Given the description of an element on the screen output the (x, y) to click on. 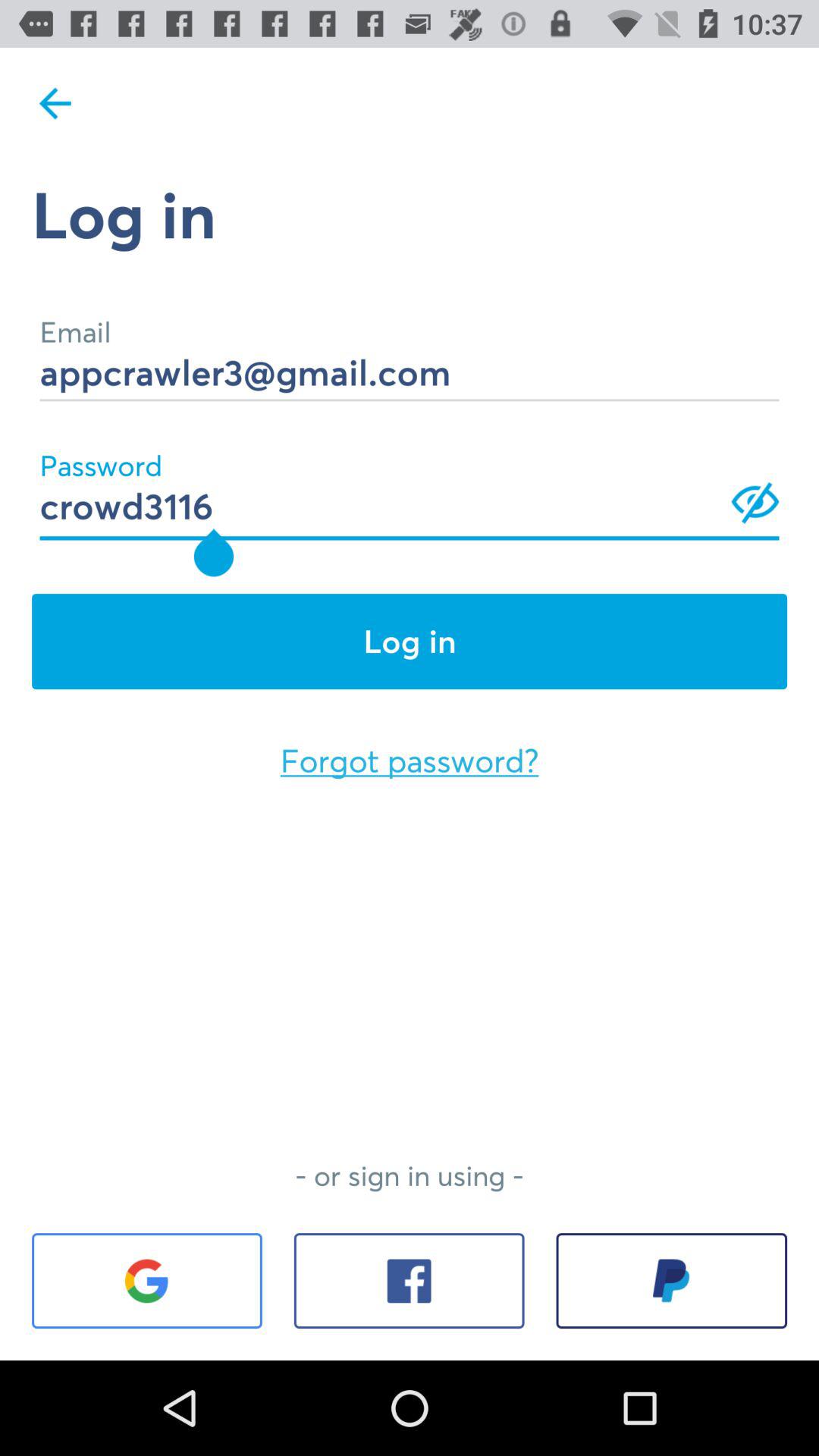
turn on the icon below or sign in (146, 1280)
